Given the description of an element on the screen output the (x, y) to click on. 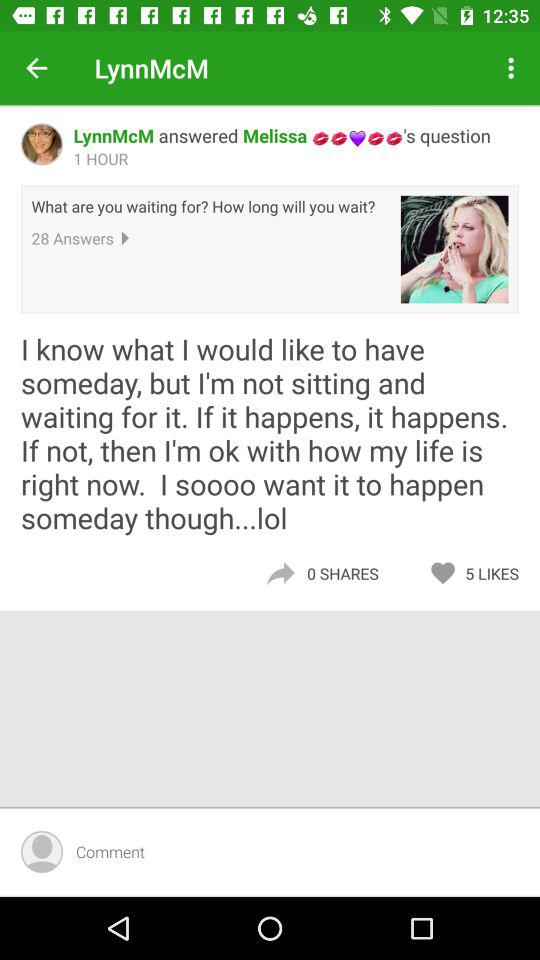
turn off the item above the i know what item (454, 249)
